Given the description of an element on the screen output the (x, y) to click on. 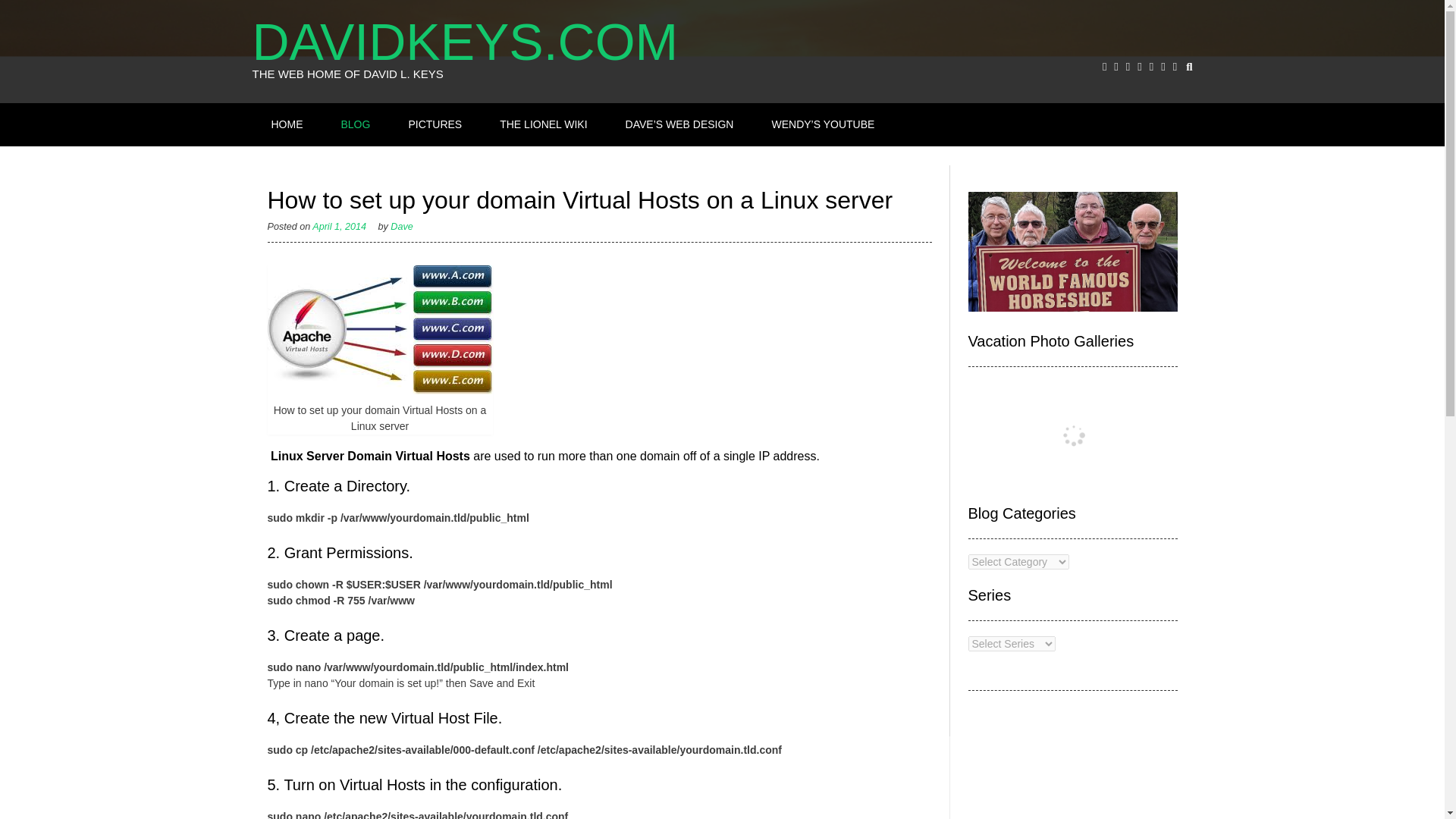
THE LIONEL WIKI (543, 124)
DavidKeys.com (486, 41)
BLOG (355, 124)
HOME (287, 124)
PICTURES (435, 124)
April 1, 2014 (339, 226)
Dave (401, 226)
DAVIDKEYS.COM (486, 41)
